Given the description of an element on the screen output the (x, y) to click on. 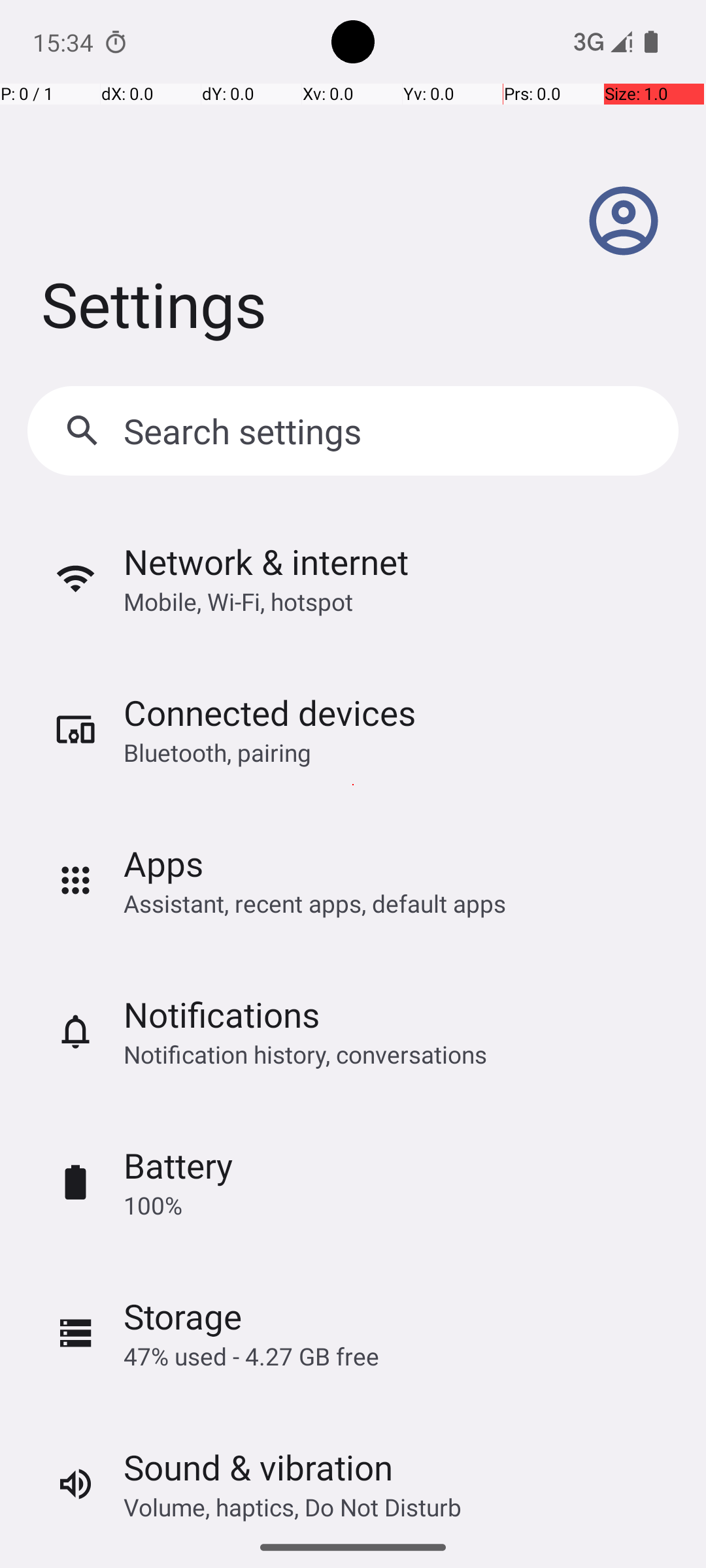
47% used - 4.27 GB free Element type: android.widget.TextView (251, 1355)
